Given the description of an element on the screen output the (x, y) to click on. 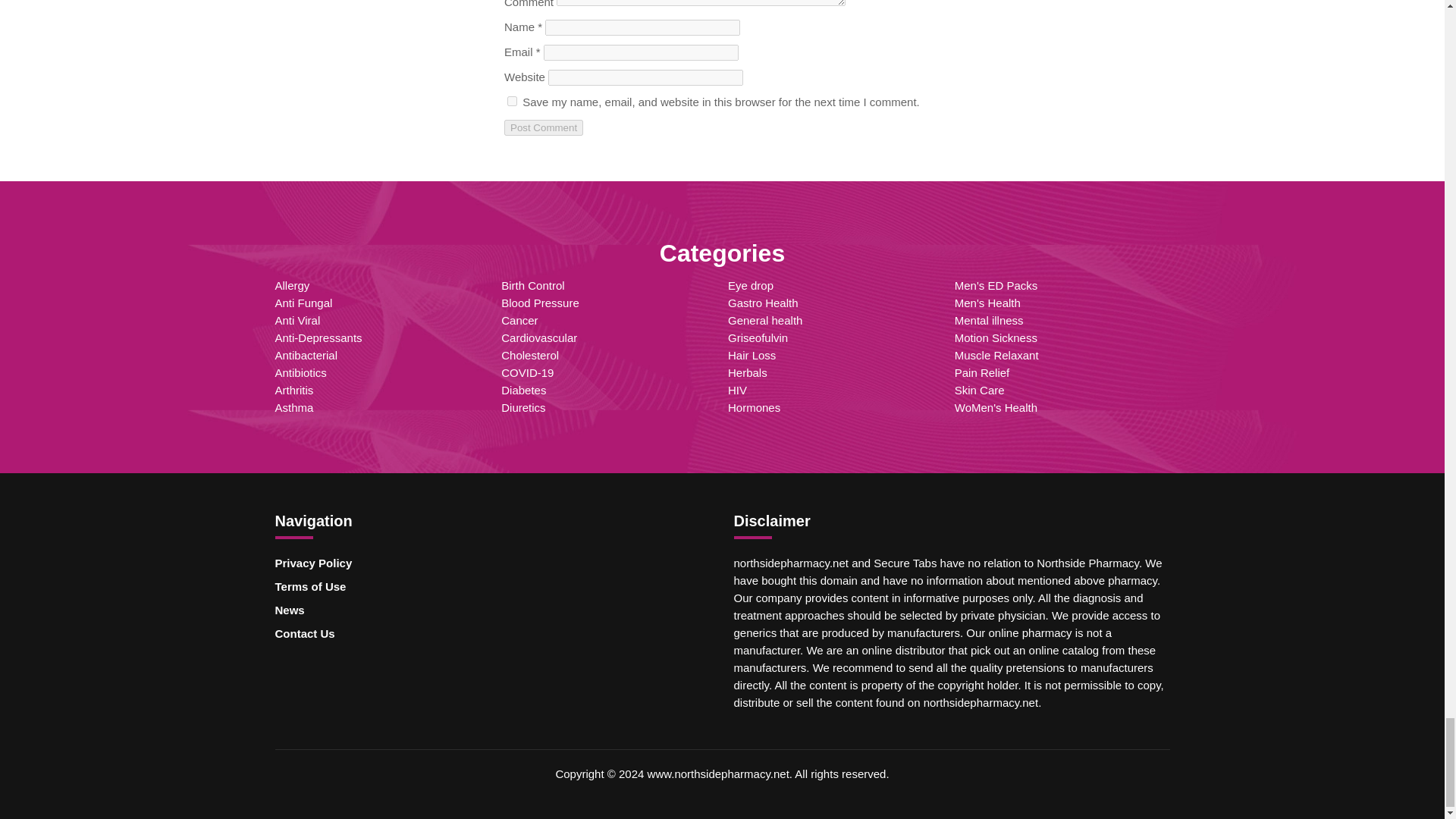
yes (511, 101)
Post Comment (543, 127)
